Given the description of an element on the screen output the (x, y) to click on. 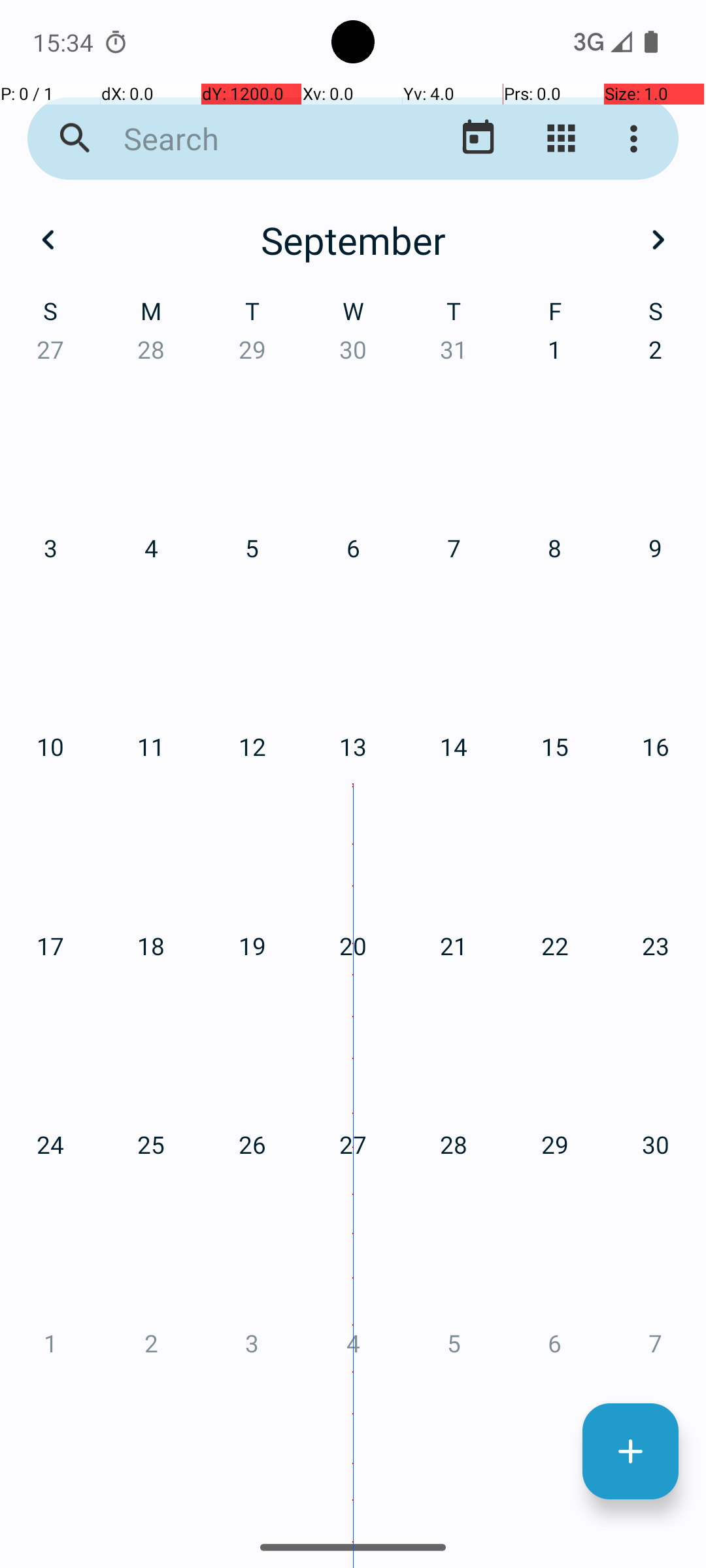
September Element type: android.widget.TextView (352, 239)
